Given the description of an element on the screen output the (x, y) to click on. 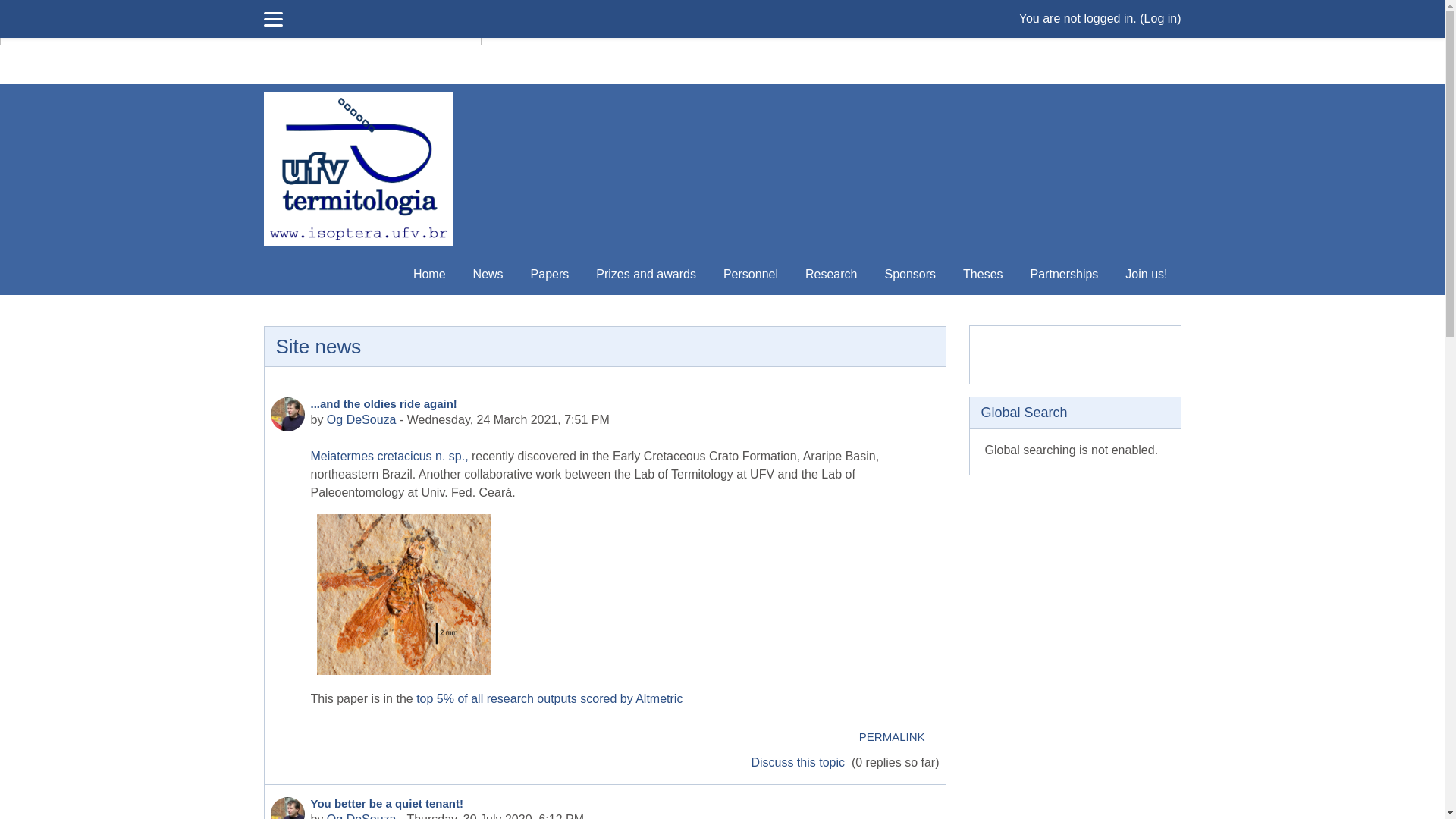
Home Element type: text (429, 274)
Skip Global search Element type: text (967, 395)
Join us! Element type: text (1145, 274)
Prizes and awards Element type: text (645, 274)
Log in Element type: text (1160, 18)
Discuss this topic Element type: text (798, 762)
Personnel Element type: text (750, 274)
Partnerships Element type: text (1064, 274)
Papers Element type: text (550, 274)
Meiatermes cretacicus n. sp., Element type: text (389, 455)
News Element type: text (488, 274)
PERMALINK Element type: text (891, 737)
Research Element type: text (830, 274)
top 5% of all research outputs scored by Altmetric Element type: text (548, 698)
Og DeSouza Element type: text (361, 419)
Sponsors Element type: text (909, 274)
Picture of Og DeSouza Element type: hover (286, 414)
Theses Element type: text (982, 274)
